Given the description of an element on the screen output the (x, y) to click on. 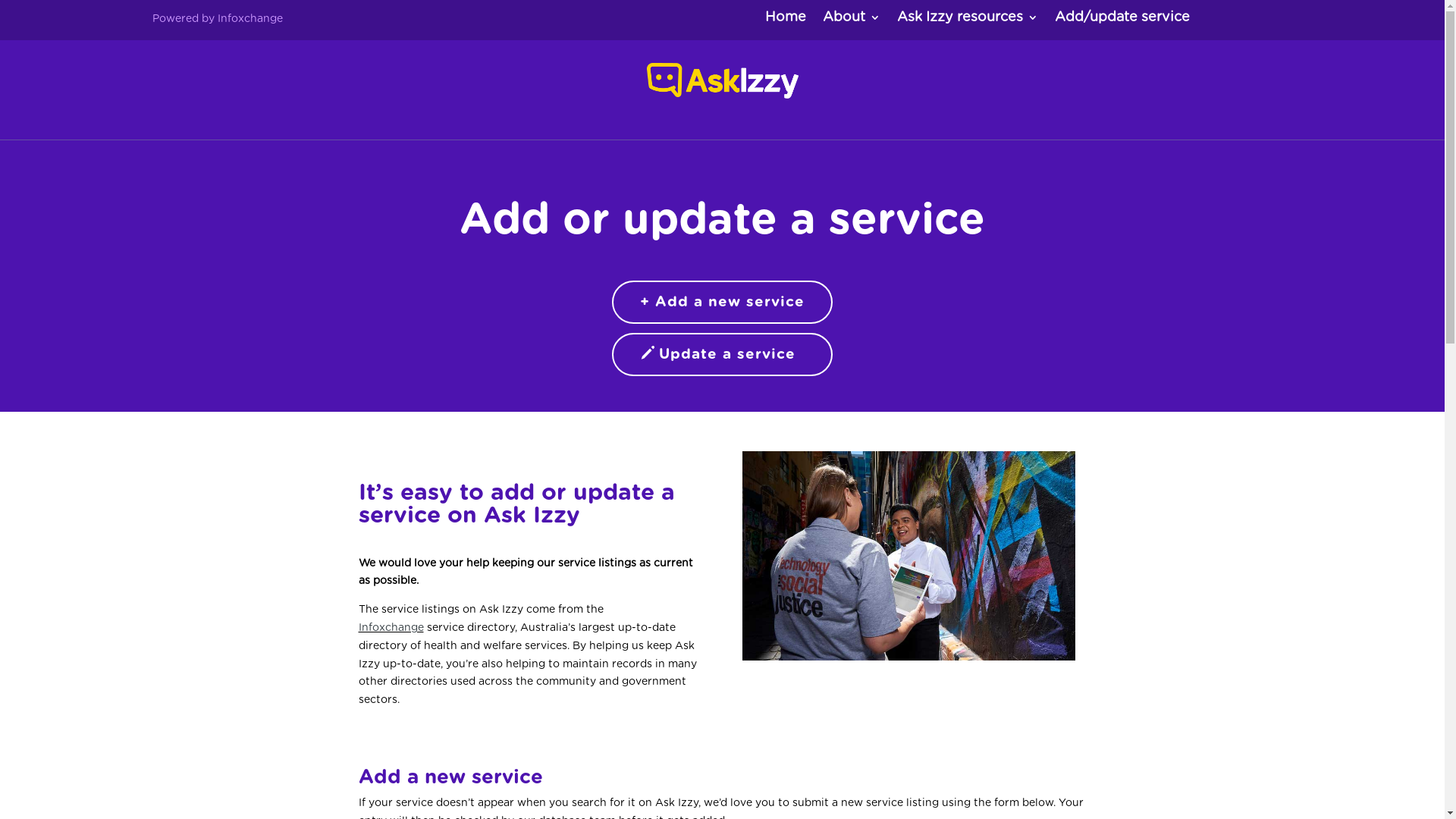
About Element type: text (851, 20)
Leena-and-Elvis Element type: hover (909, 555)
Ask-Izzy-logo Element type: hover (721, 80)
Home Element type: text (785, 20)
Skip to content Element type: text (0, 0)
+ Add a new service Element type: text (721, 301)
Add/update service Element type: text (1121, 20)
Update a service Element type: text (721, 354)
Ask Izzy resources Element type: text (967, 20)
Infoxchange Element type: text (390, 627)
